Given the description of an element on the screen output the (x, y) to click on. 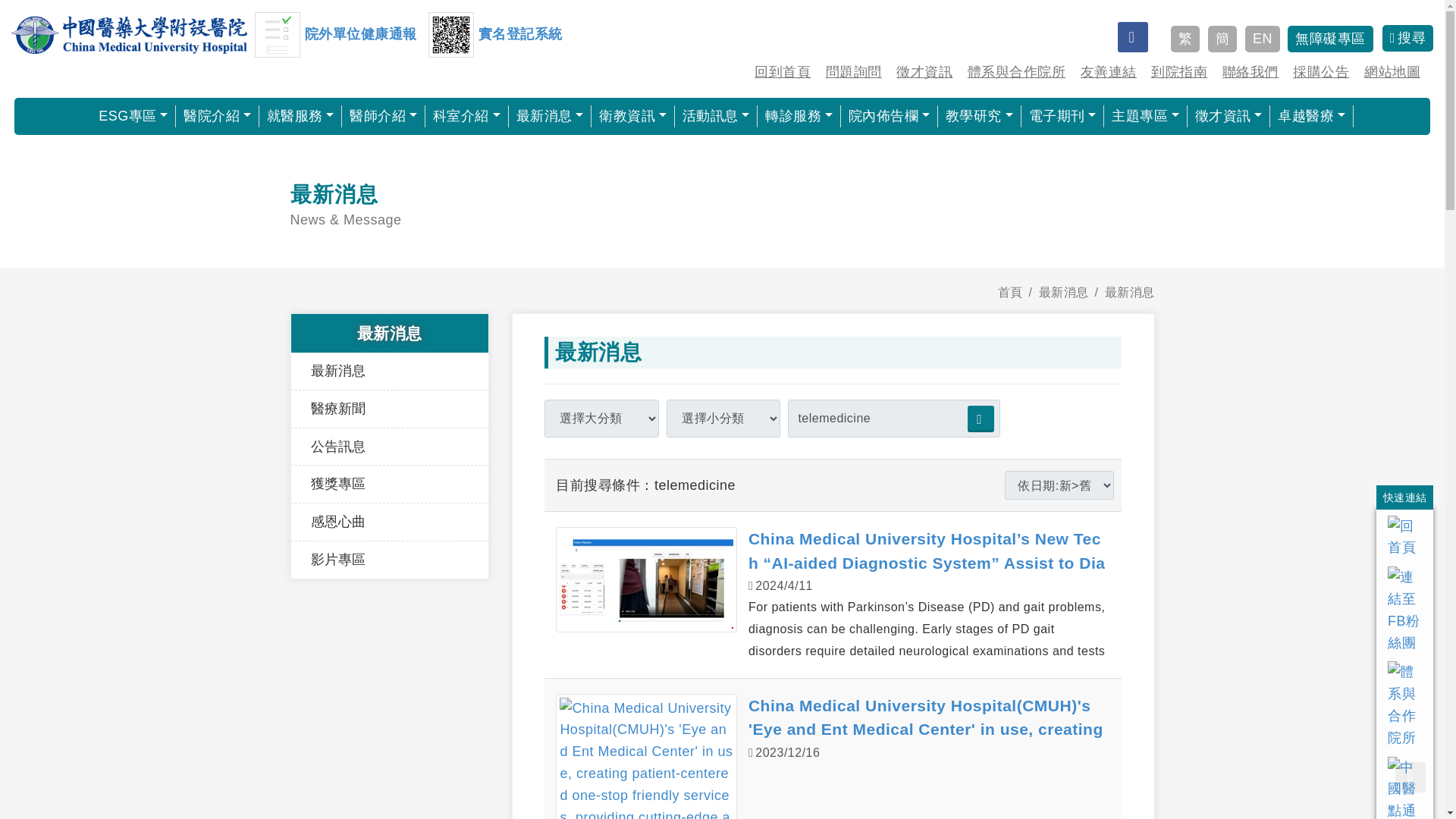
EN (1261, 38)
telemedicine  (893, 418)
